Given the description of an element on the screen output the (x, y) to click on. 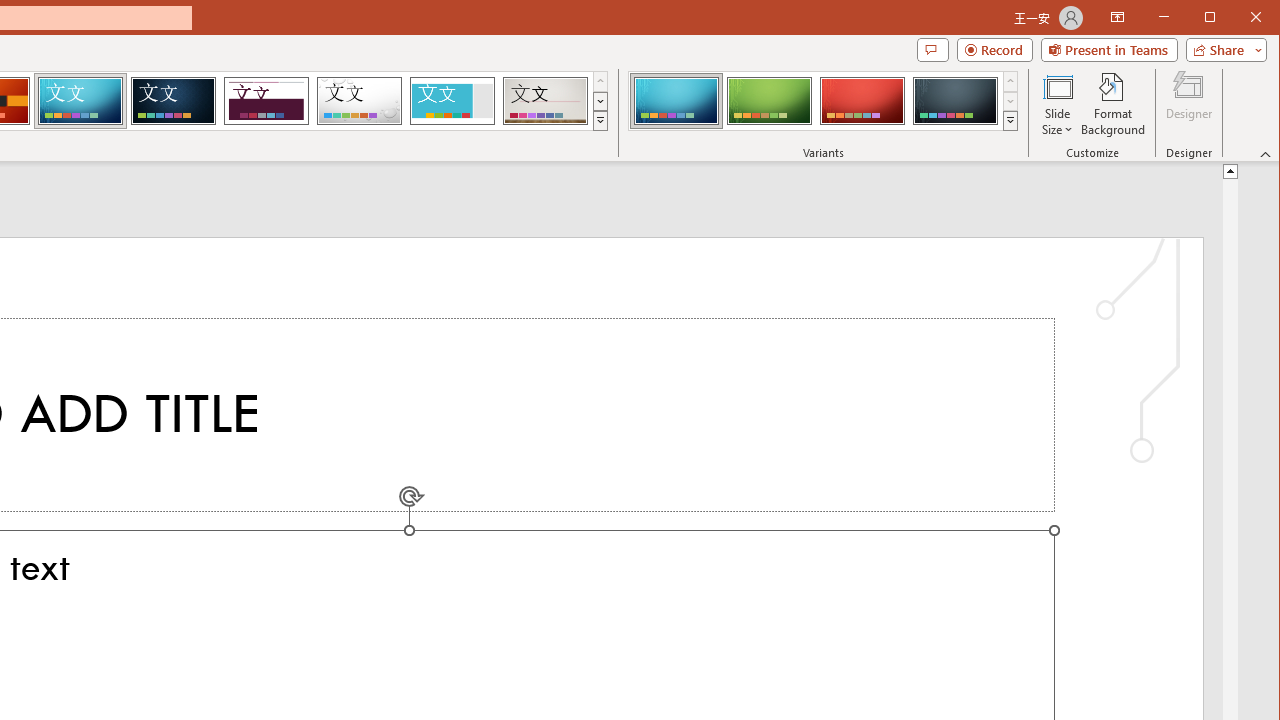
Circuit Variant 1 (676, 100)
Circuit Variant 2 (769, 100)
